Given the description of an element on the screen output the (x, y) to click on. 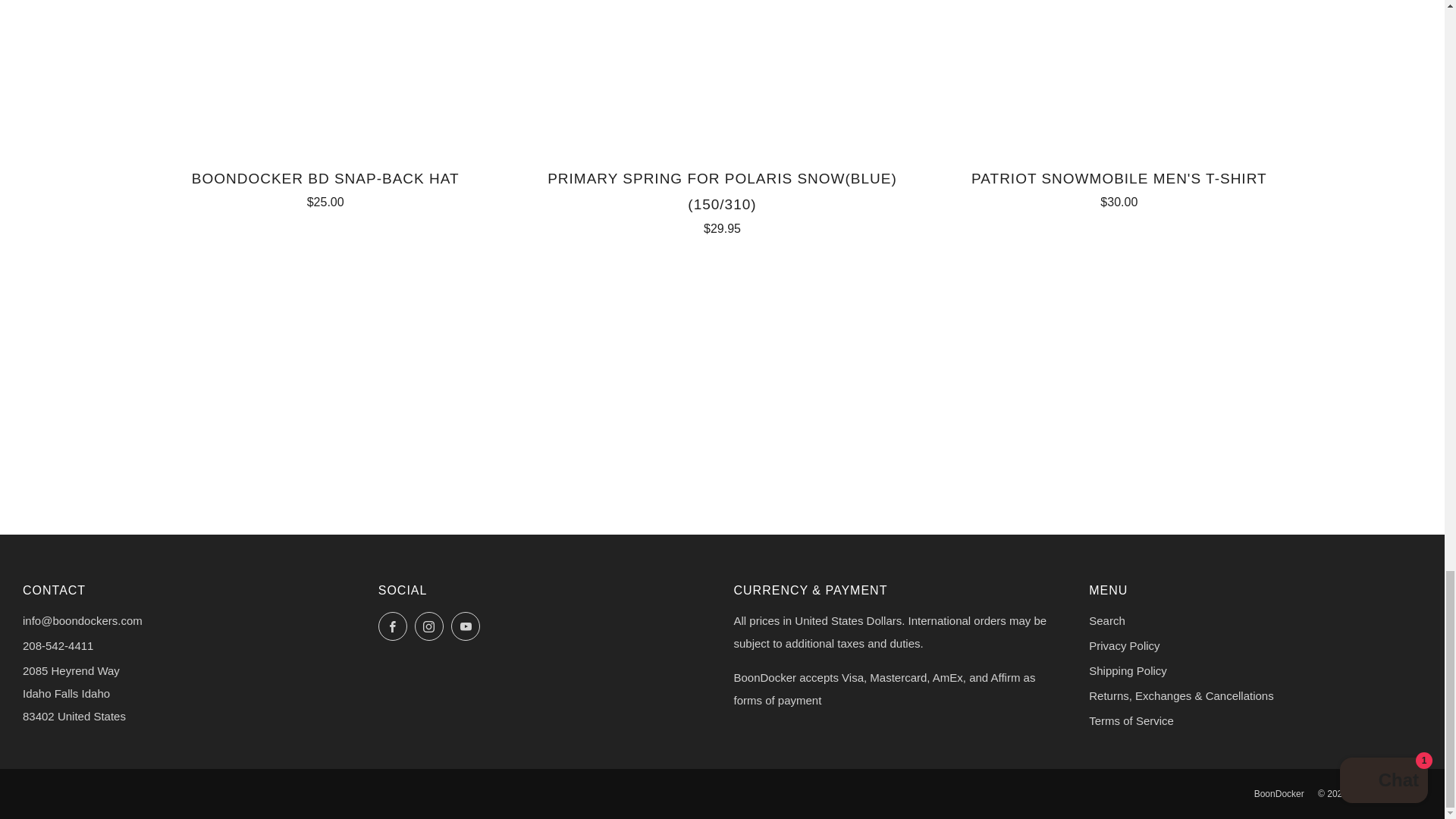
Patriot Snowmobile Men's T-Shirt (1118, 187)
BoonDocker BD Snap-Back Hat (325, 187)
